Given the description of an element on the screen output the (x, y) to click on. 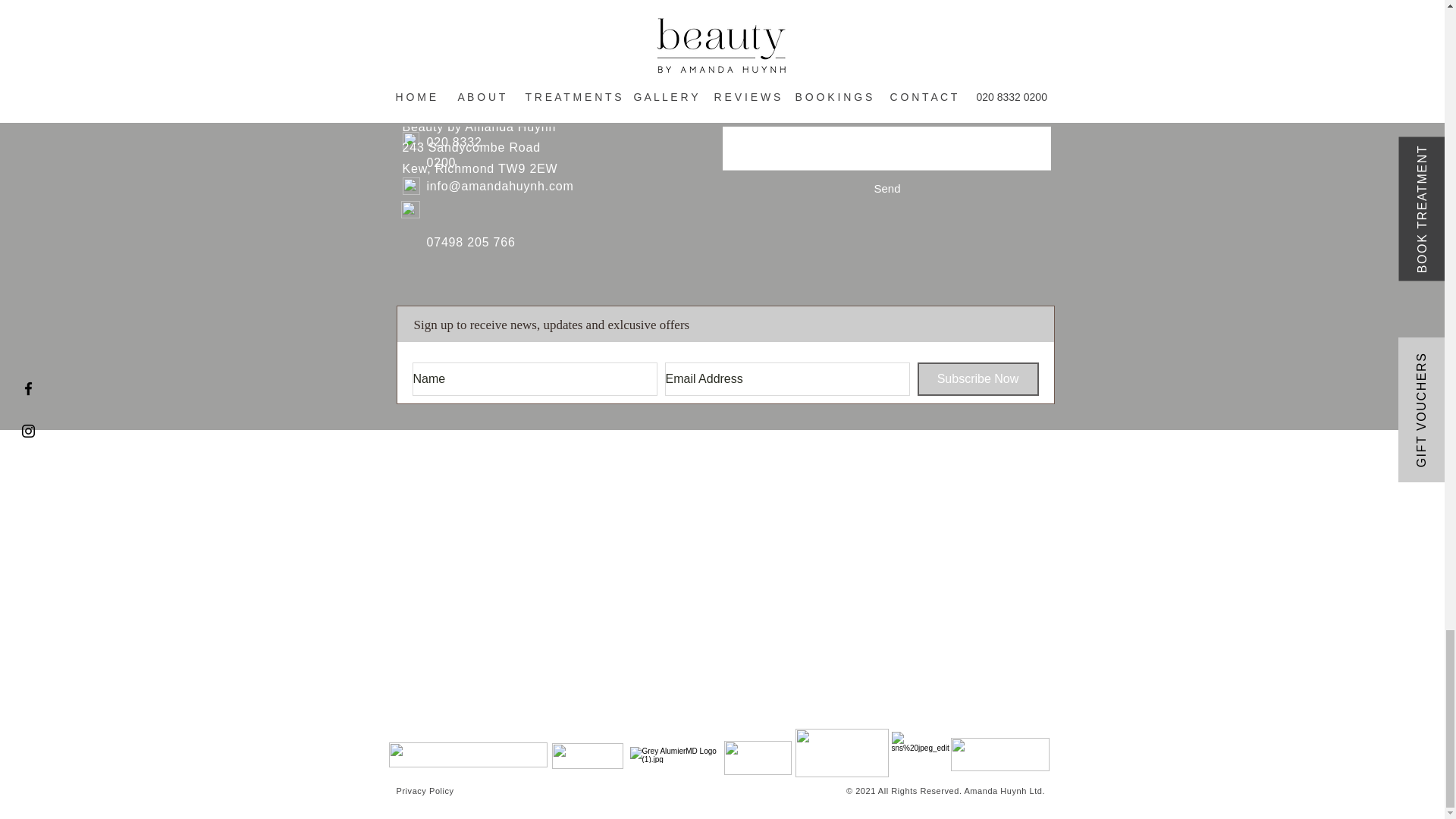
Subscribe Now (978, 378)
020 8332 0200  (453, 151)
Privacy Policy (424, 790)
Email (410, 185)
07498 205 766 (470, 241)
Whatsapp (409, 209)
Send (886, 188)
